Given the description of an element on the screen output the (x, y) to click on. 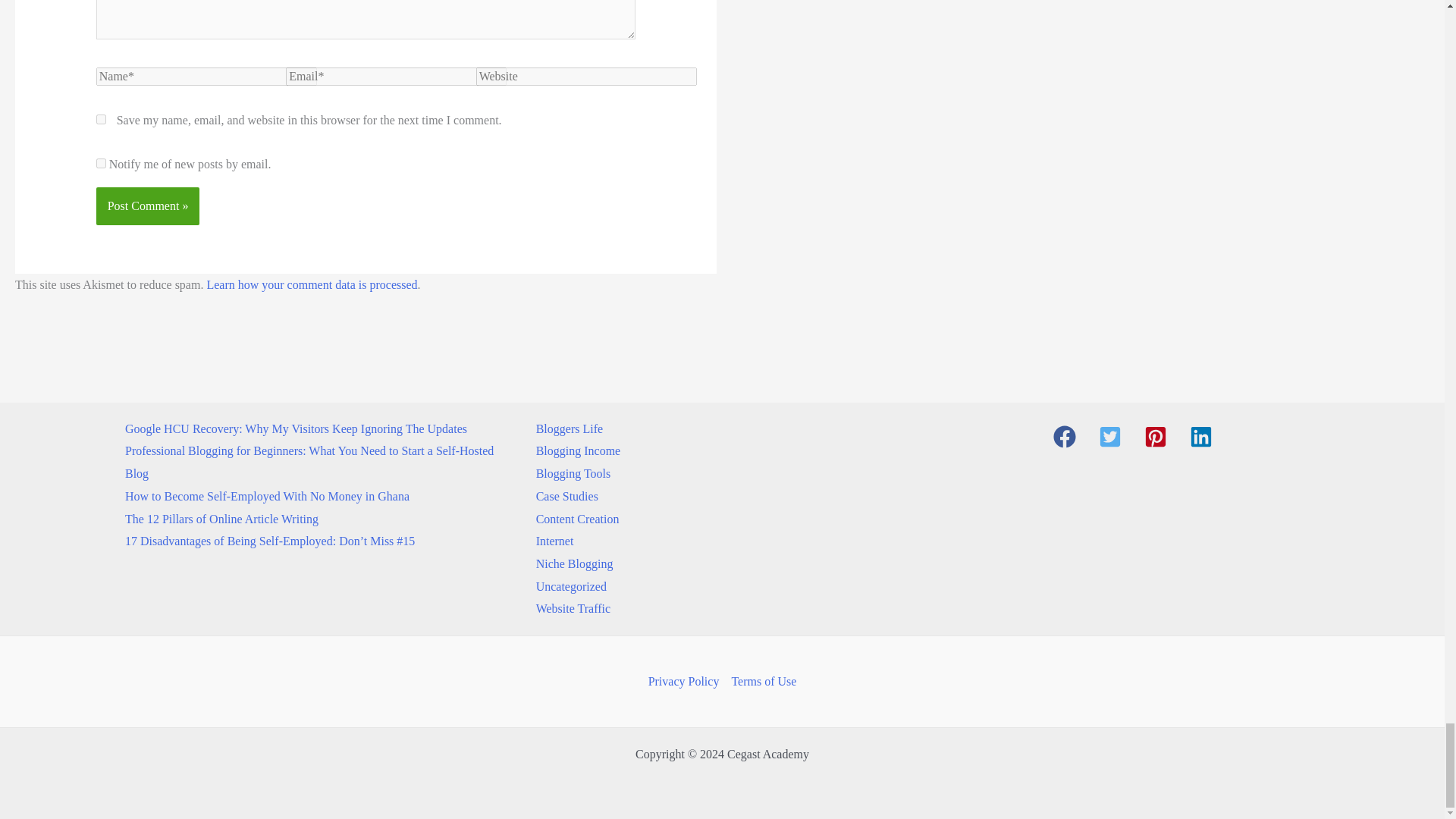
yes (101, 119)
subscribe (101, 163)
